Given the description of an element on the screen output the (x, y) to click on. 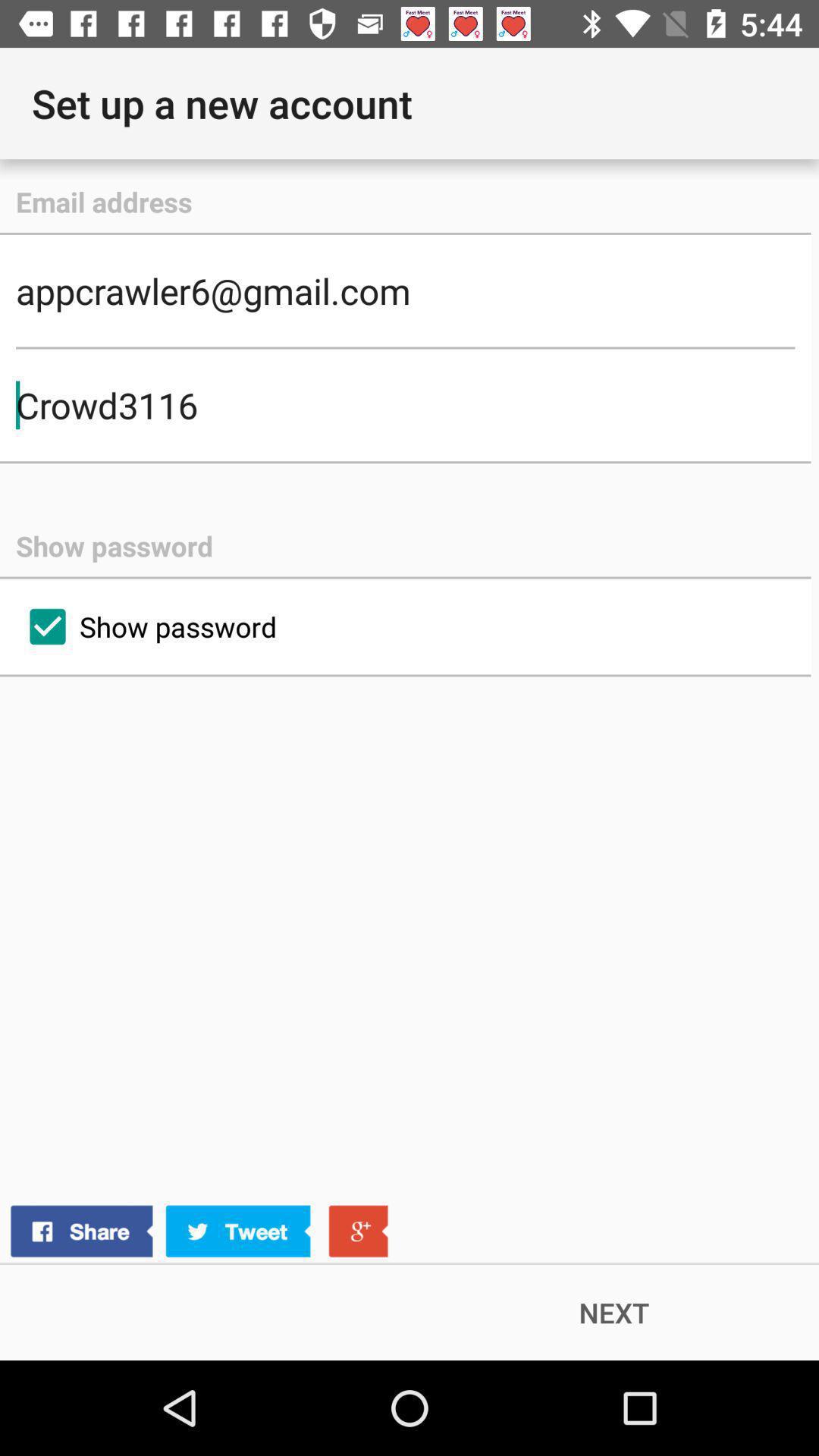
choose item next to next (199, 1231)
